Given the description of an element on the screen output the (x, y) to click on. 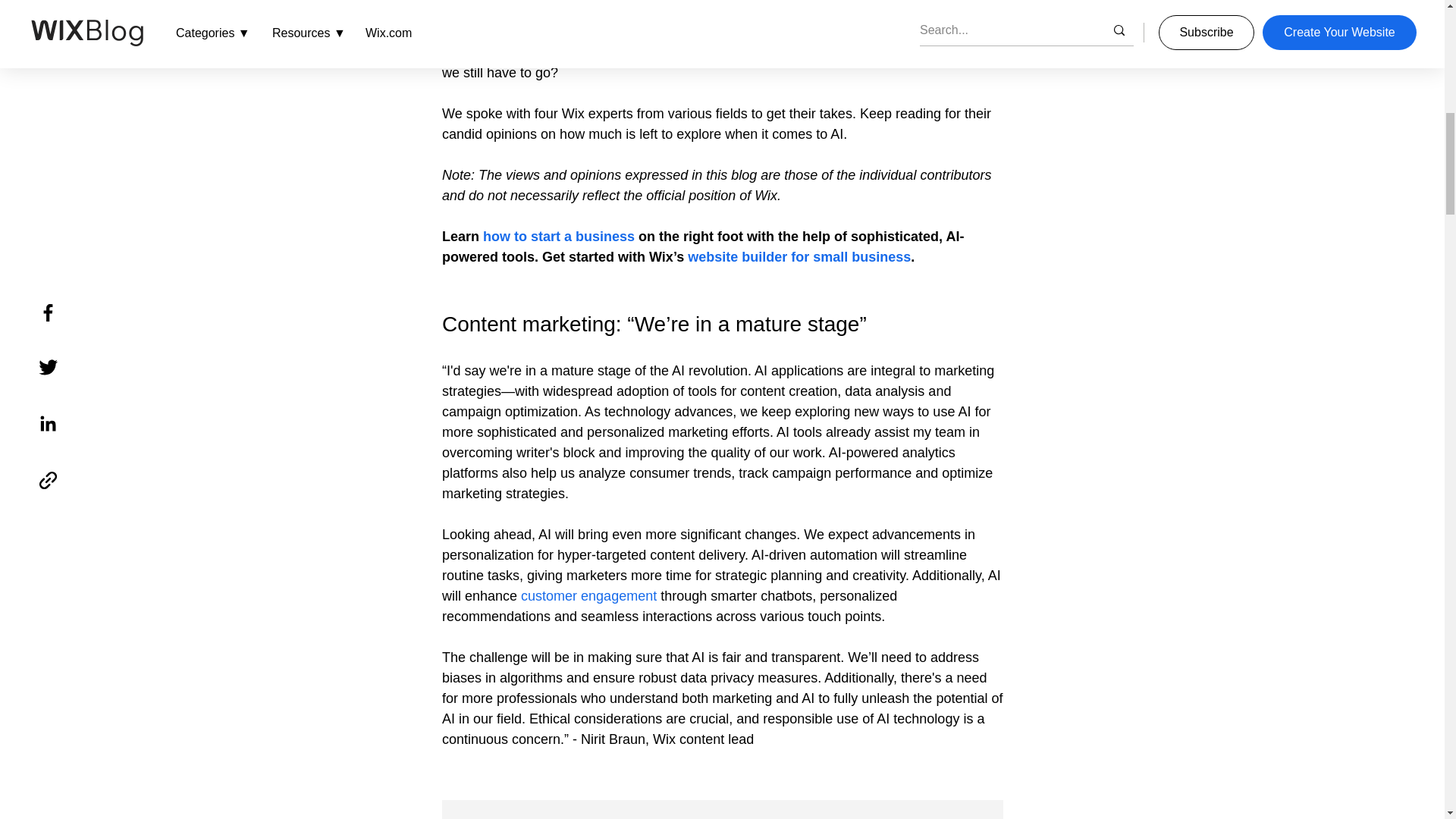
customer engagement (588, 595)
how to start a business (558, 236)
website builder for small business (799, 256)
